Given the description of an element on the screen output the (x, y) to click on. 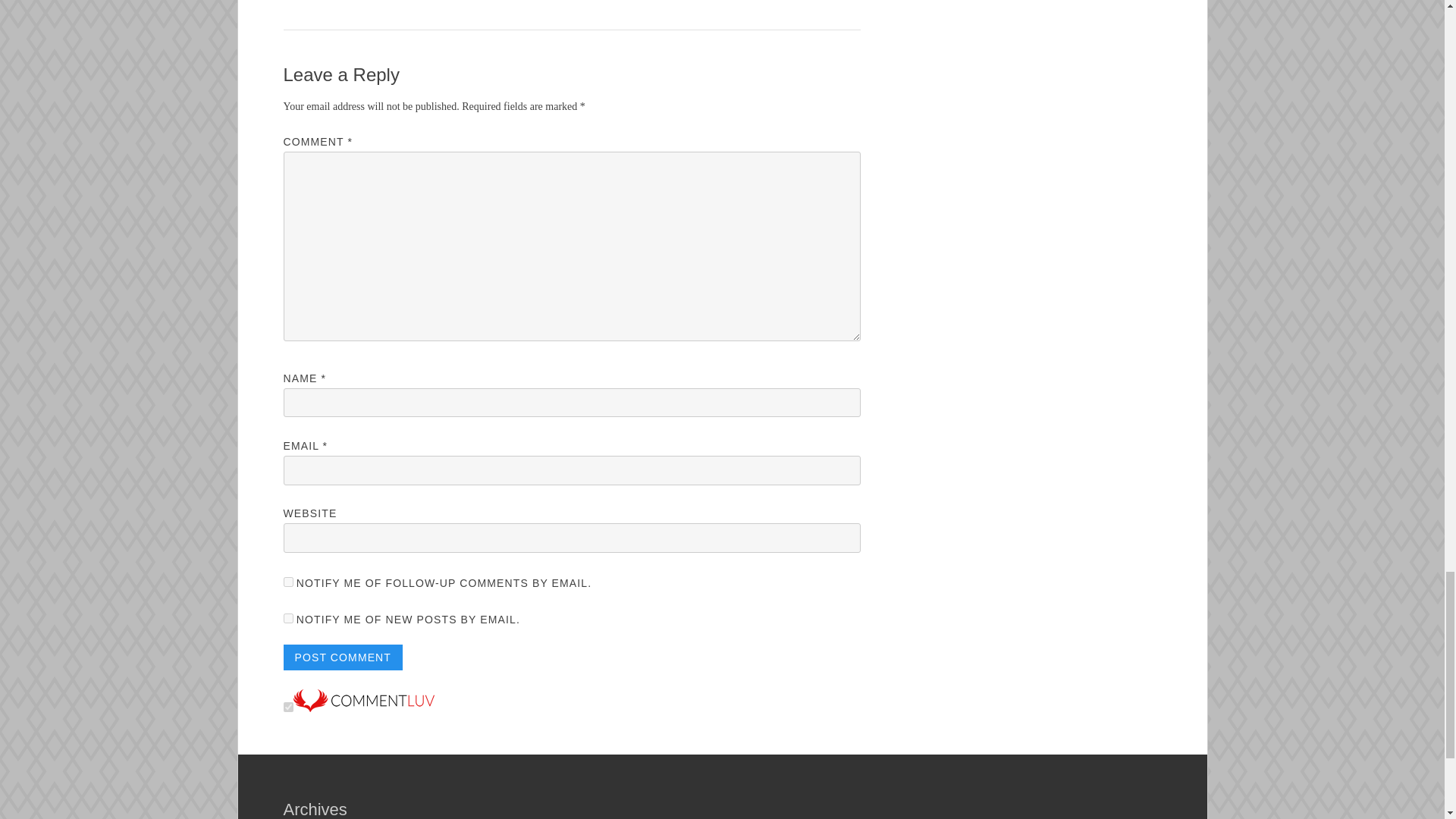
on (288, 706)
subscribe (288, 582)
CommentLuv is enabled (362, 707)
subscribe (288, 618)
Post Comment (343, 657)
